Given the description of an element on the screen output the (x, y) to click on. 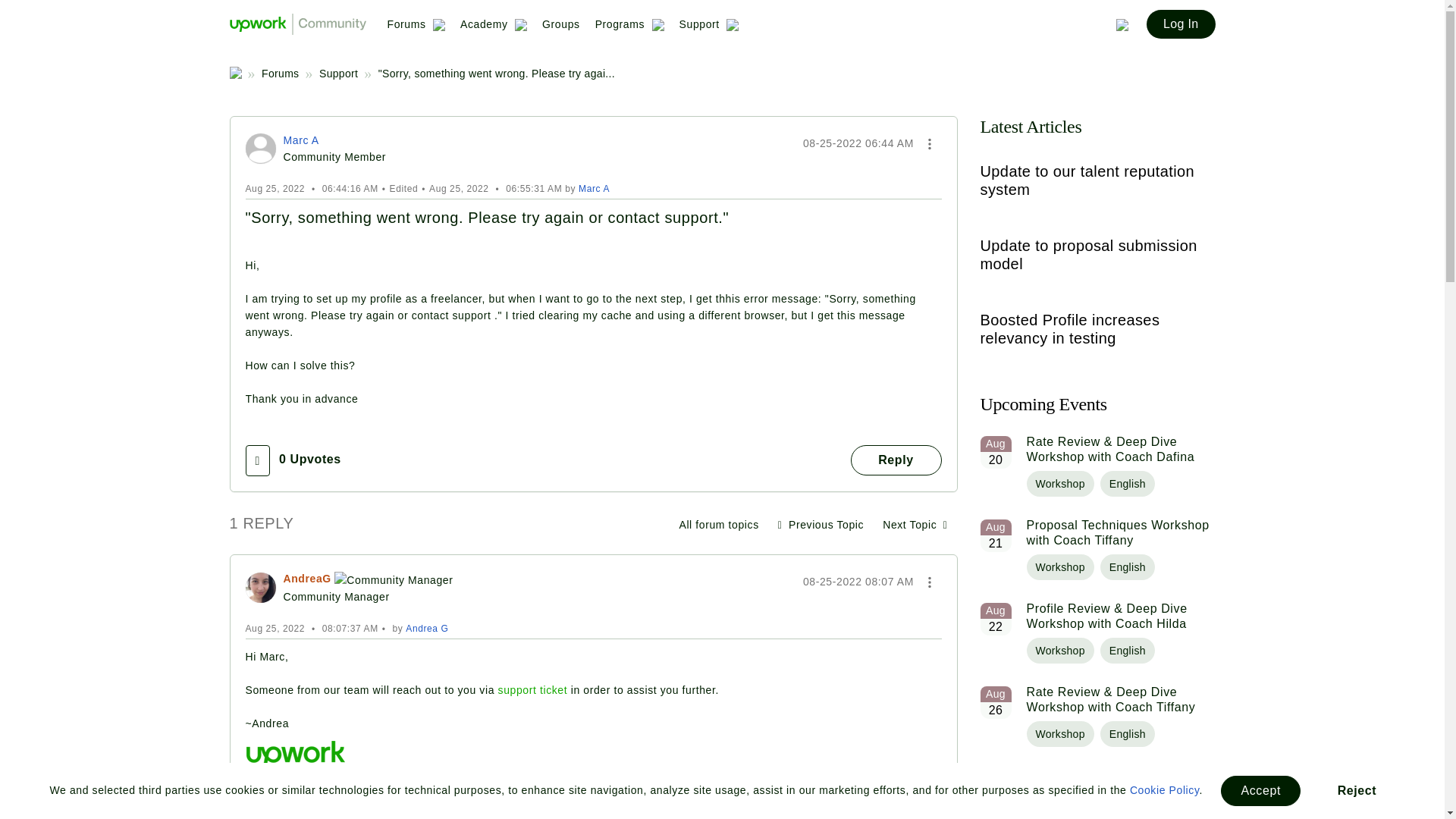
Forums (416, 29)
The total number of upvotes this post has received. (309, 817)
Reject (1356, 790)
Support Forum (718, 524)
Community Manager (393, 579)
AndreaG (261, 587)
To submit a proposal, update address (914, 524)
Cookie Policy (1164, 789)
90ac848b (261, 148)
